Given the description of an element on the screen output the (x, y) to click on. 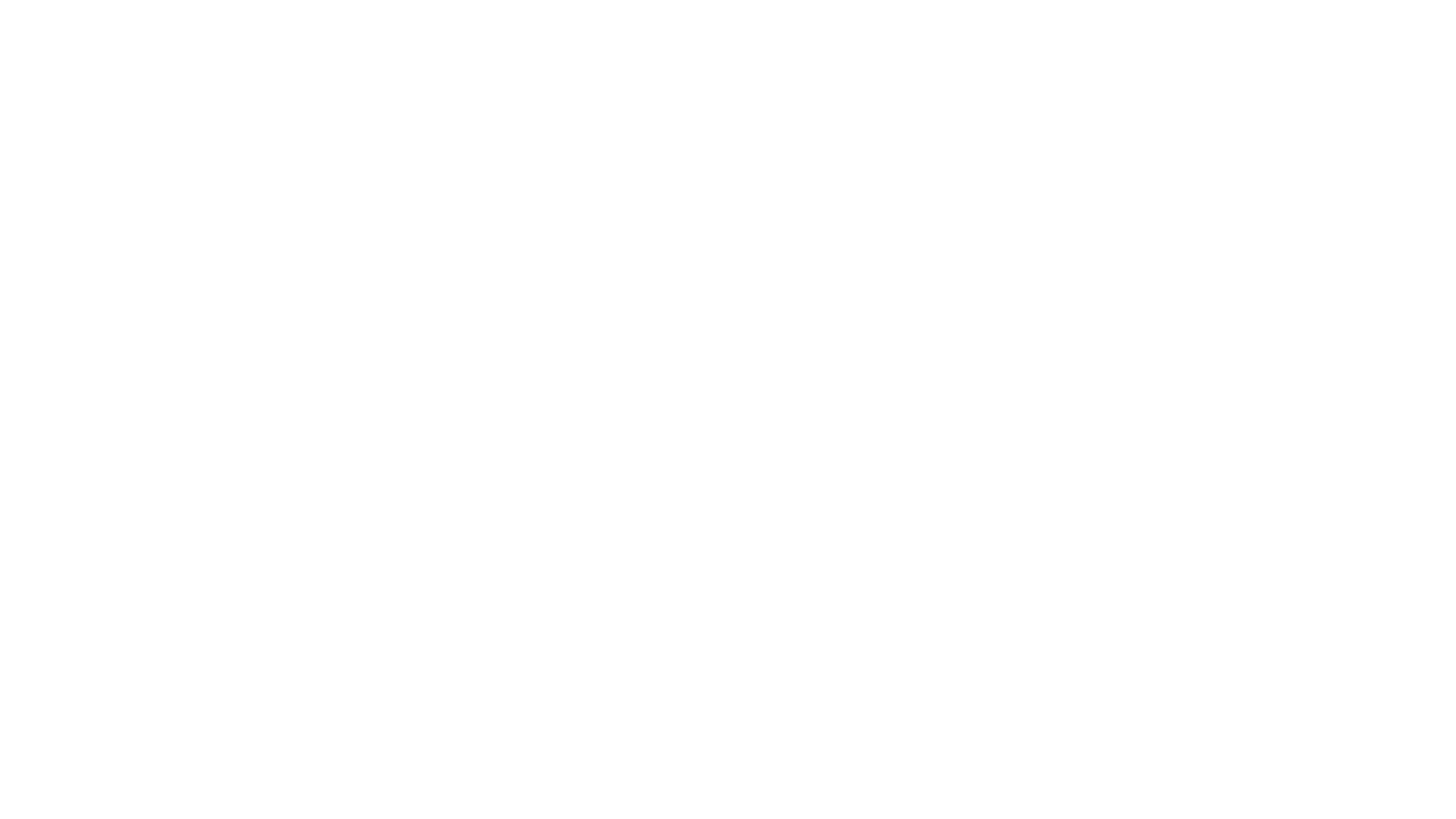
GOOGLE ADS Element type: text (519, 37)
info@marketlab.by Element type: text (364, 408)
education.marketlab.by Element type: text (1087, 356)
APPLE SEARCH ADS Element type: text (723, 37)
service.marketlab.by Element type: text (1079, 380)
+375 29 141 00 63 Element type: text (359, 386)
MICROSOFT ADS (BING) Element type: text (614, 37)
marketlabgroup.com Element type: text (1080, 331)
GOOGLE TAG MANAGER Element type: text (992, 37)
EN Element type: text (1135, 37)
